Given the description of an element on the screen output the (x, y) to click on. 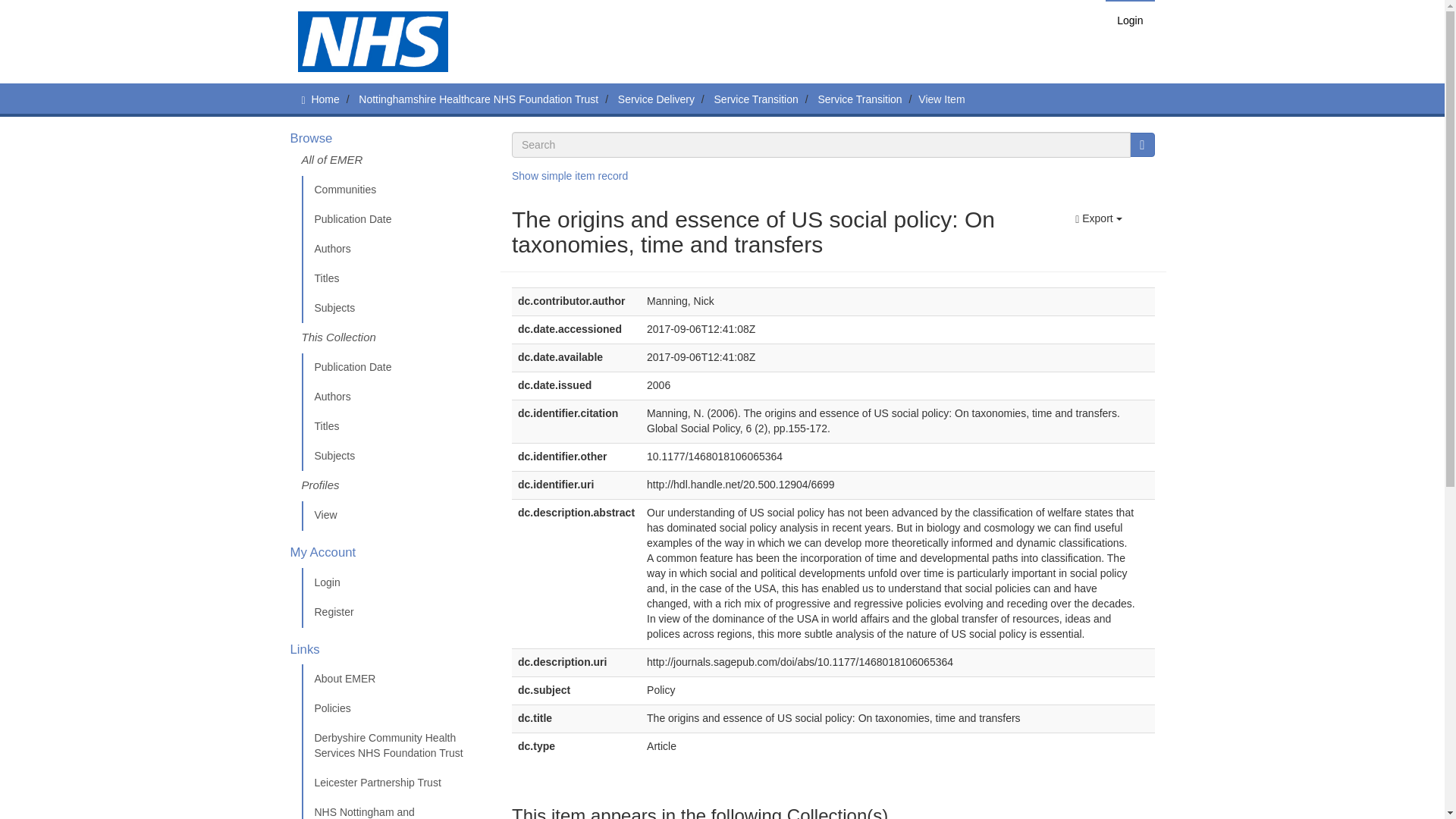
Login (1129, 19)
Subjects (395, 308)
Derbyshire Community Health Services NHS Foundation Trust (395, 746)
Publication Date (395, 367)
Nottinghamshire Healthcare NHS Foundation Trust (478, 99)
Subjects (395, 456)
All of EMER (395, 164)
Home (325, 99)
Policies (395, 708)
About EMER (395, 679)
